Given the description of an element on the screen output the (x, y) to click on. 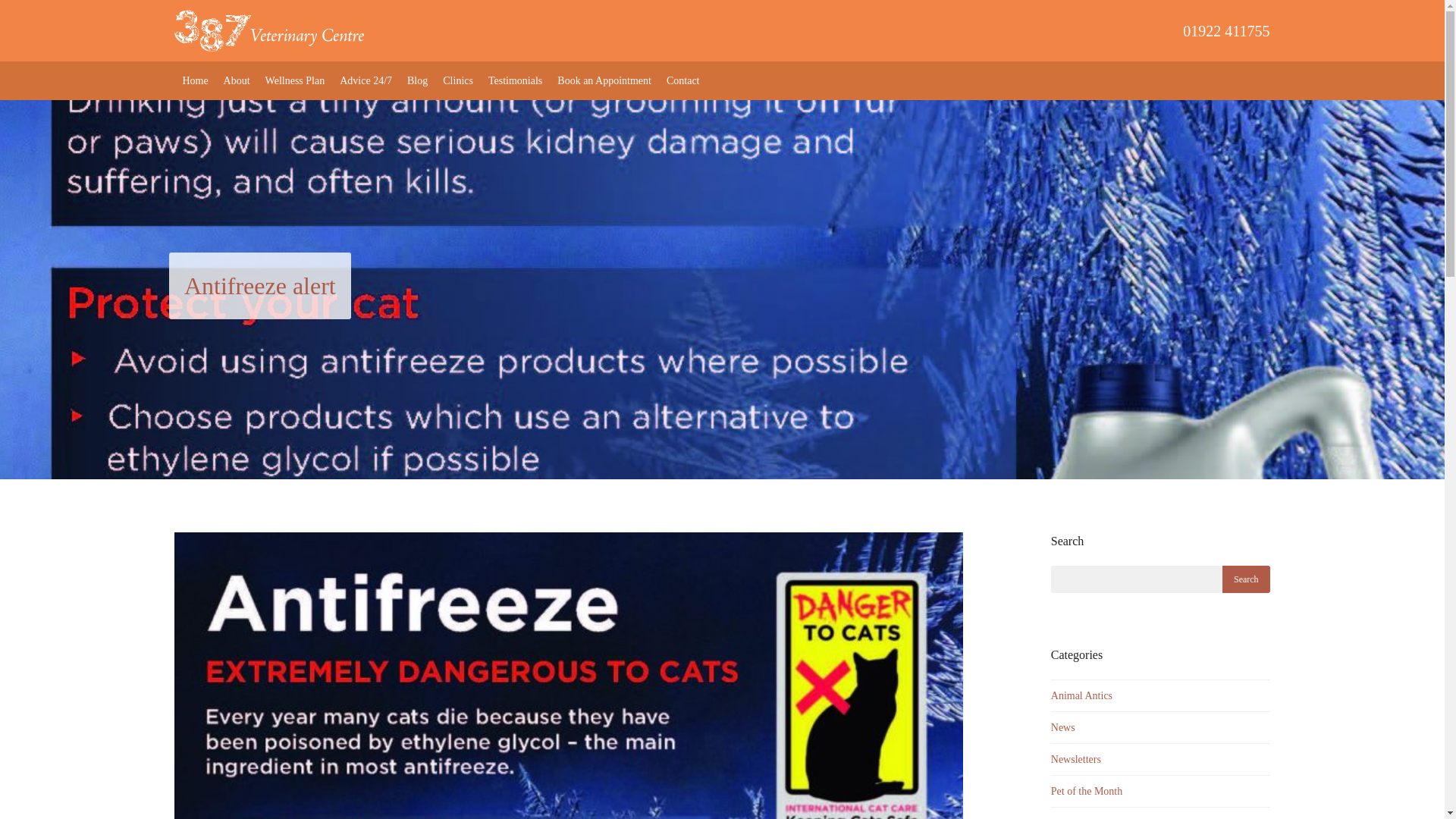
Testimonials (515, 80)
About (236, 80)
Wellness Plan (295, 80)
Book an Appointment (604, 80)
Contact (683, 80)
Blog (416, 80)
Home (194, 80)
01922 411755 (816, 30)
Search (1246, 578)
Clinics (457, 80)
